Given the description of an element on the screen output the (x, y) to click on. 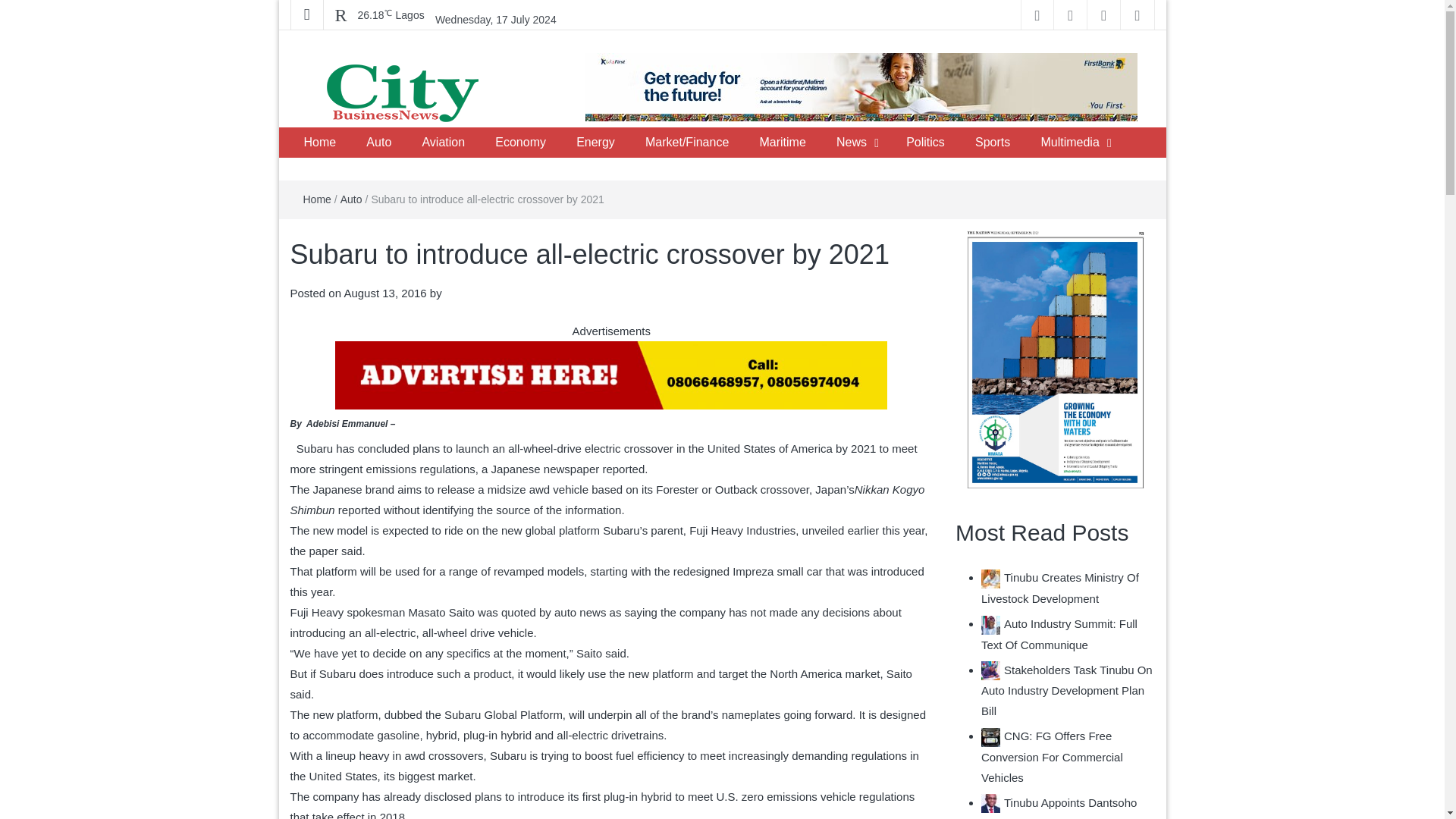
Economy (520, 142)
Energy (595, 142)
Maritime (781, 142)
Home (319, 142)
City Business News (410, 142)
Auto (378, 142)
Rain (391, 14)
Aviation (443, 142)
News (851, 142)
